Given the description of an element on the screen output the (x, y) to click on. 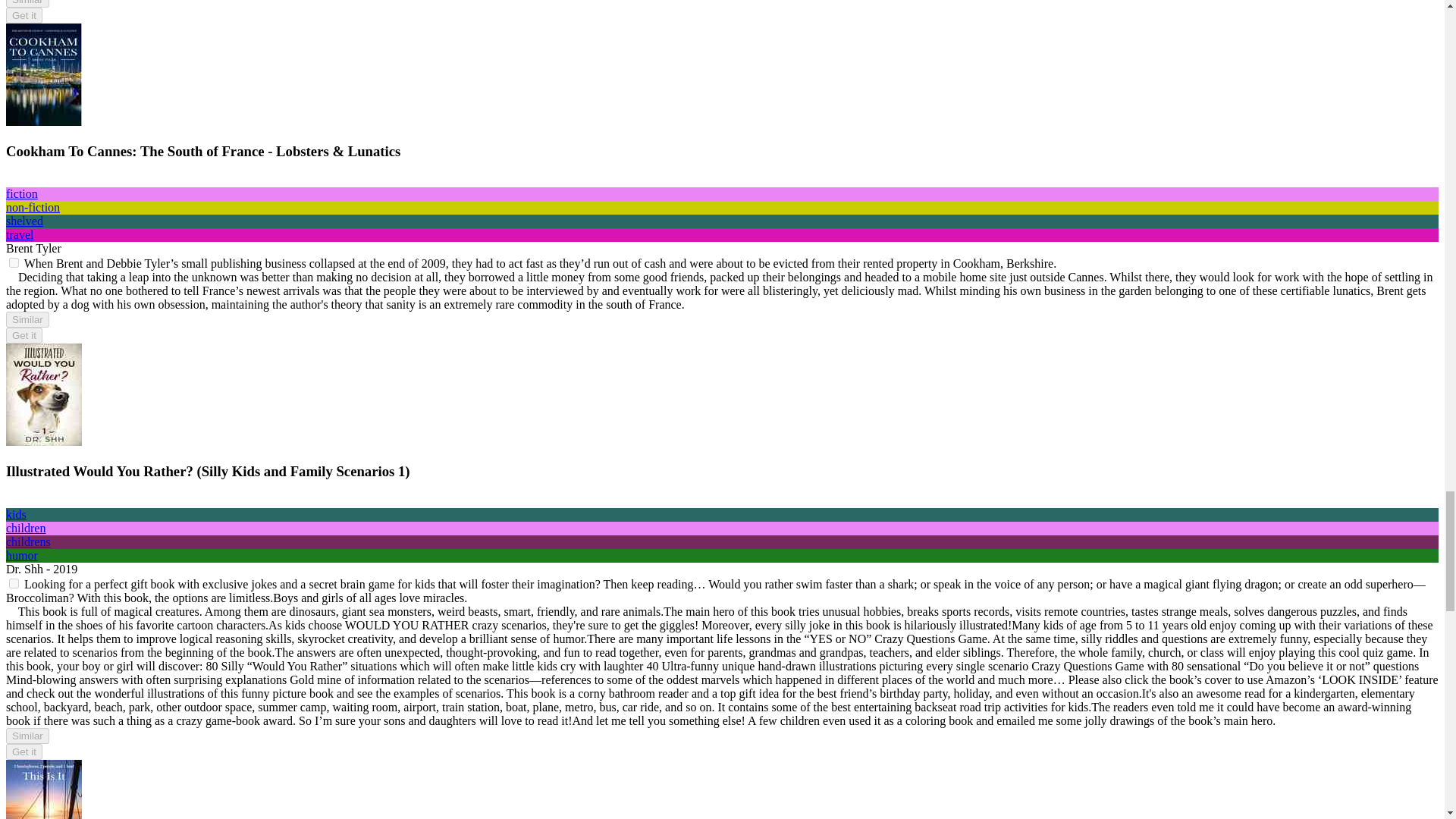
on (13, 583)
on (13, 262)
